Given the description of an element on the screen output the (x, y) to click on. 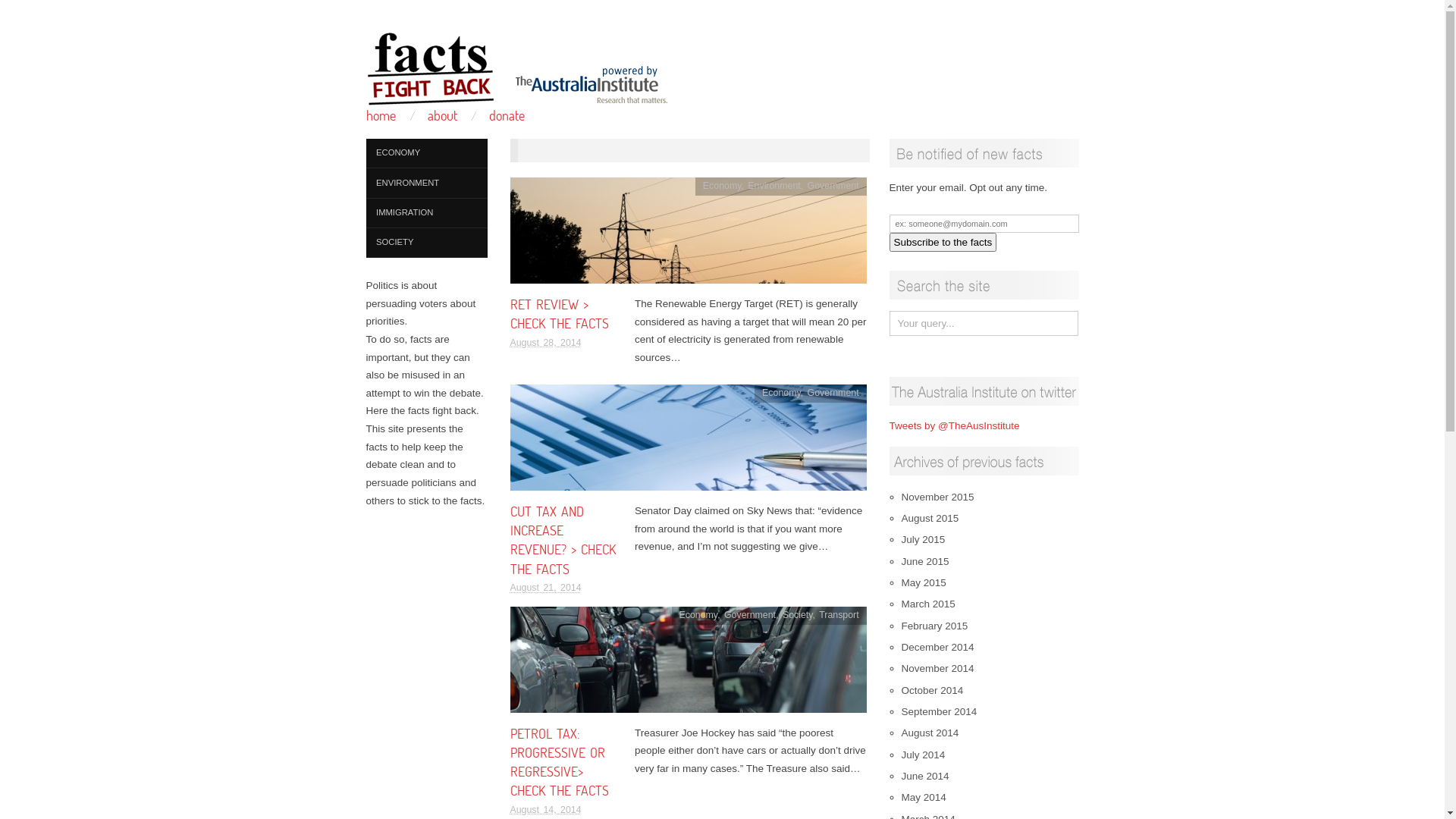
Cut tax and increase revenue? > Check the facts Element type: hover (687, 442)
SOCIETY Element type: text (425, 242)
about Element type: text (442, 115)
November 2015 Element type: text (936, 496)
Environment Element type: text (773, 185)
RET review > Check the facts Element type: hover (687, 235)
June 2015 Element type: text (924, 561)
Economy Element type: text (698, 614)
Economy Element type: text (721, 185)
May 2015 Element type: text (922, 582)
September 2014 Element type: text (938, 711)
home Element type: text (380, 115)
Tweets by @TheAusInstitute Element type: text (953, 425)
August 2015 Element type: text (929, 518)
2014 Element type: text (579, 149)
RET REVIEW > CHECK THE FACTS Element type: text (558, 313)
PETROL TAX: PROGRESSIVE OR REGRESSIVE> CHECK THE FACTS Element type: text (558, 762)
Economy Element type: text (781, 392)
CUT TAX AND INCREASE REVENUE? > CHECK THE FACTS Element type: text (562, 539)
IMMIGRATION Element type: text (425, 213)
July 2015 Element type: text (922, 539)
July 2014 Element type: text (922, 754)
October 2014 Element type: text (931, 690)
ECONOMY Element type: text (425, 153)
Government Element type: text (833, 392)
June 2014 Element type: text (924, 775)
Society Element type: text (797, 614)
Government Element type: text (833, 185)
Petrol tax: progressive or regressive> Check the facts Element type: hover (687, 664)
ENVIRONMENT Element type: text (425, 182)
Home Element type: text (538, 149)
FACTS FIGHT BACK Element type: hover (516, 63)
May 2014 Element type: text (922, 797)
February 2015 Element type: text (933, 625)
March 2015 Element type: text (927, 603)
November 2014 Element type: text (936, 668)
December 2014 Element type: text (936, 646)
Government Element type: text (749, 614)
Transport Element type: text (838, 614)
August 2014 Element type: text (929, 732)
donate Element type: text (506, 115)
Subscribe to the facts Element type: text (942, 241)
